Given the description of an element on the screen output the (x, y) to click on. 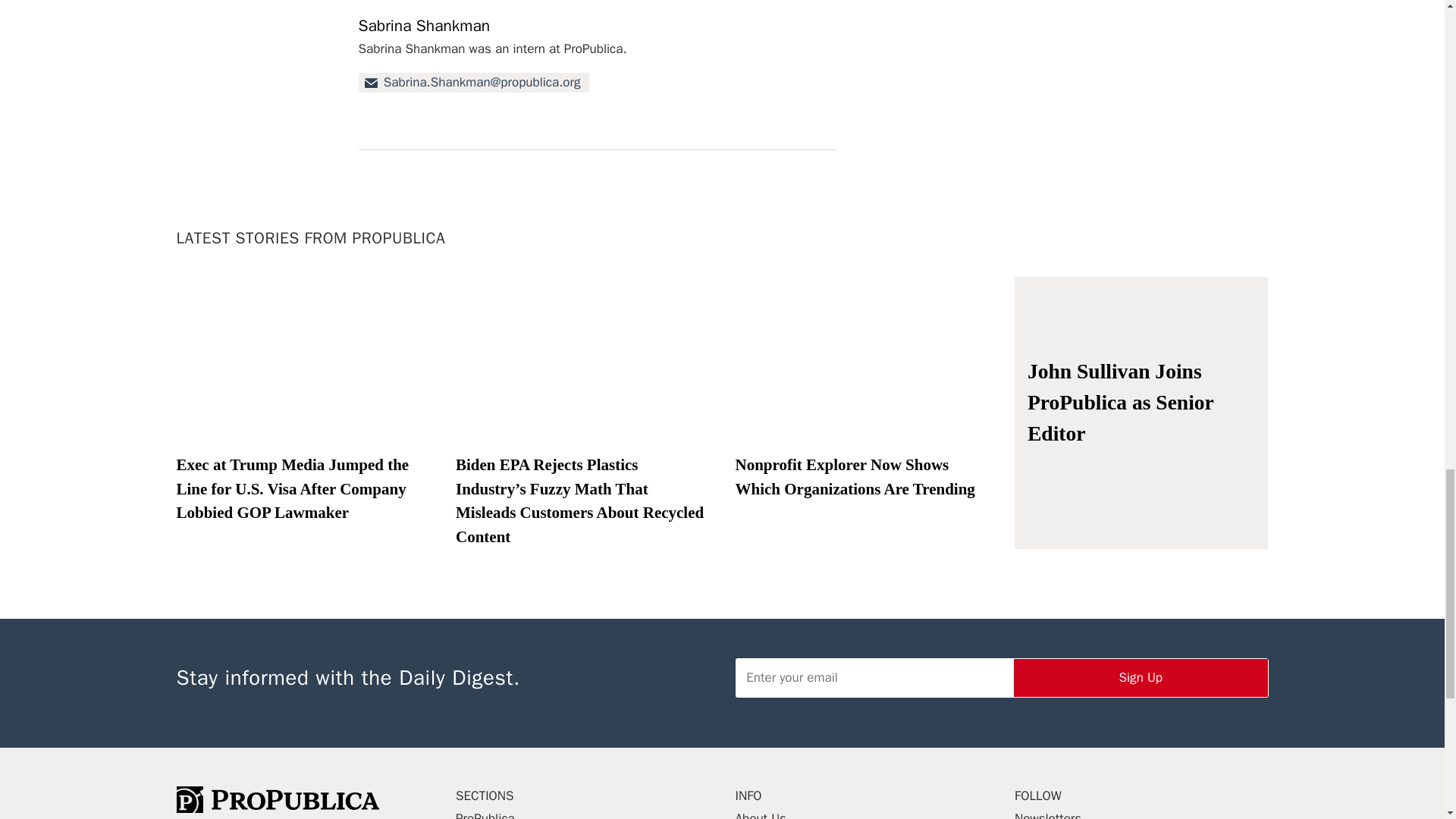
Sign Up (1140, 678)
Email (473, 82)
Sabrina Shankman (423, 25)
